Given the description of an element on the screen output the (x, y) to click on. 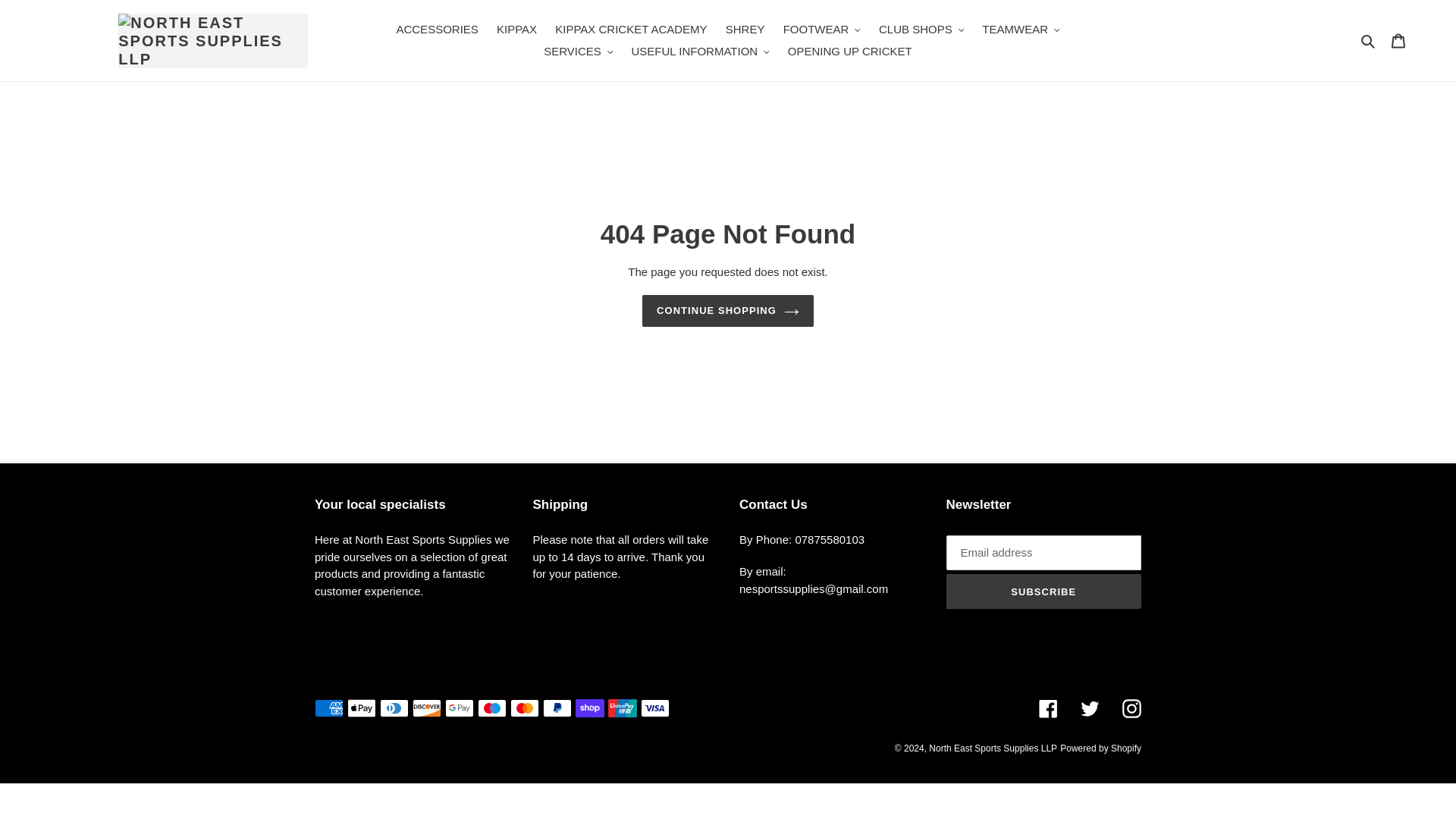
KIPPAX (516, 29)
SHREY (745, 29)
FOOTWEAR (821, 29)
TEAMWEAR (1020, 29)
OPENING UP CRICKET (850, 51)
KIPPAX CRICKET ACADEMY (630, 29)
ACCESSORIES (436, 29)
SERVICES (577, 51)
CLUB SHOPS (920, 29)
Search (1368, 40)
